Given the description of an element on the screen output the (x, y) to click on. 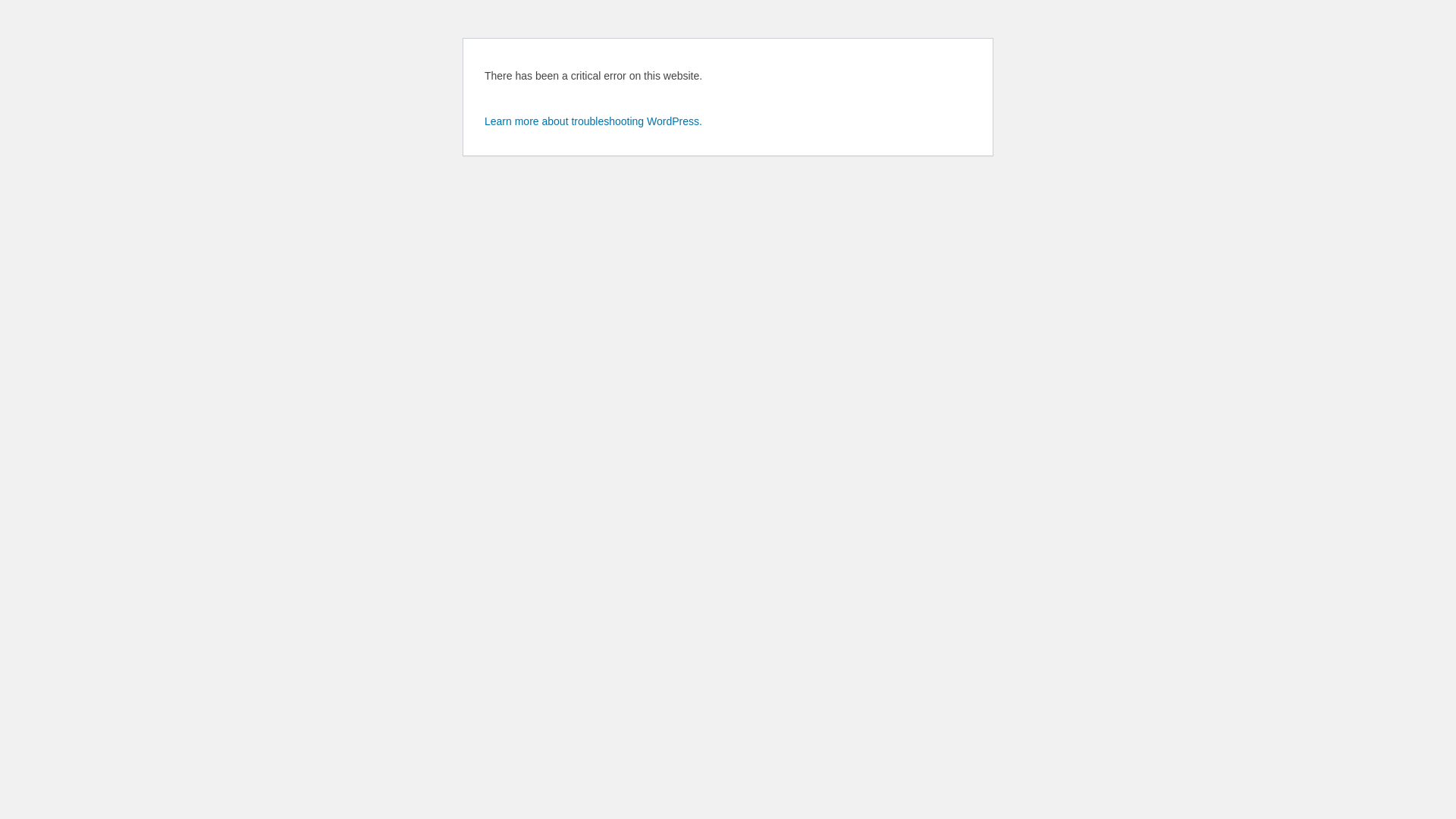
Learn more about troubleshooting WordPress. Element type: text (593, 121)
